Given the description of an element on the screen output the (x, y) to click on. 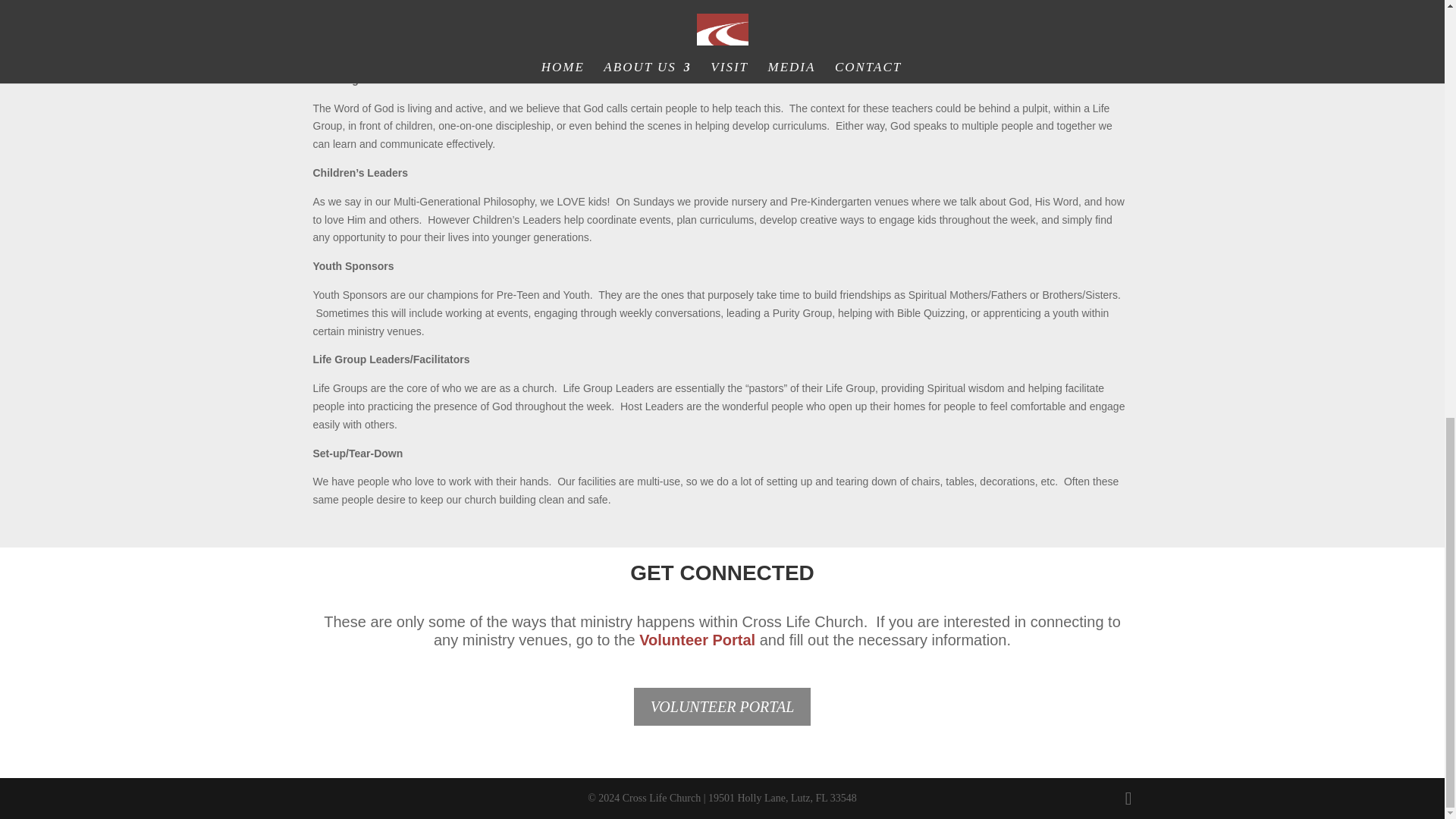
VOLUNTEER PORTAL (721, 706)
Volunteer Portal (697, 639)
